Given the description of an element on the screen output the (x, y) to click on. 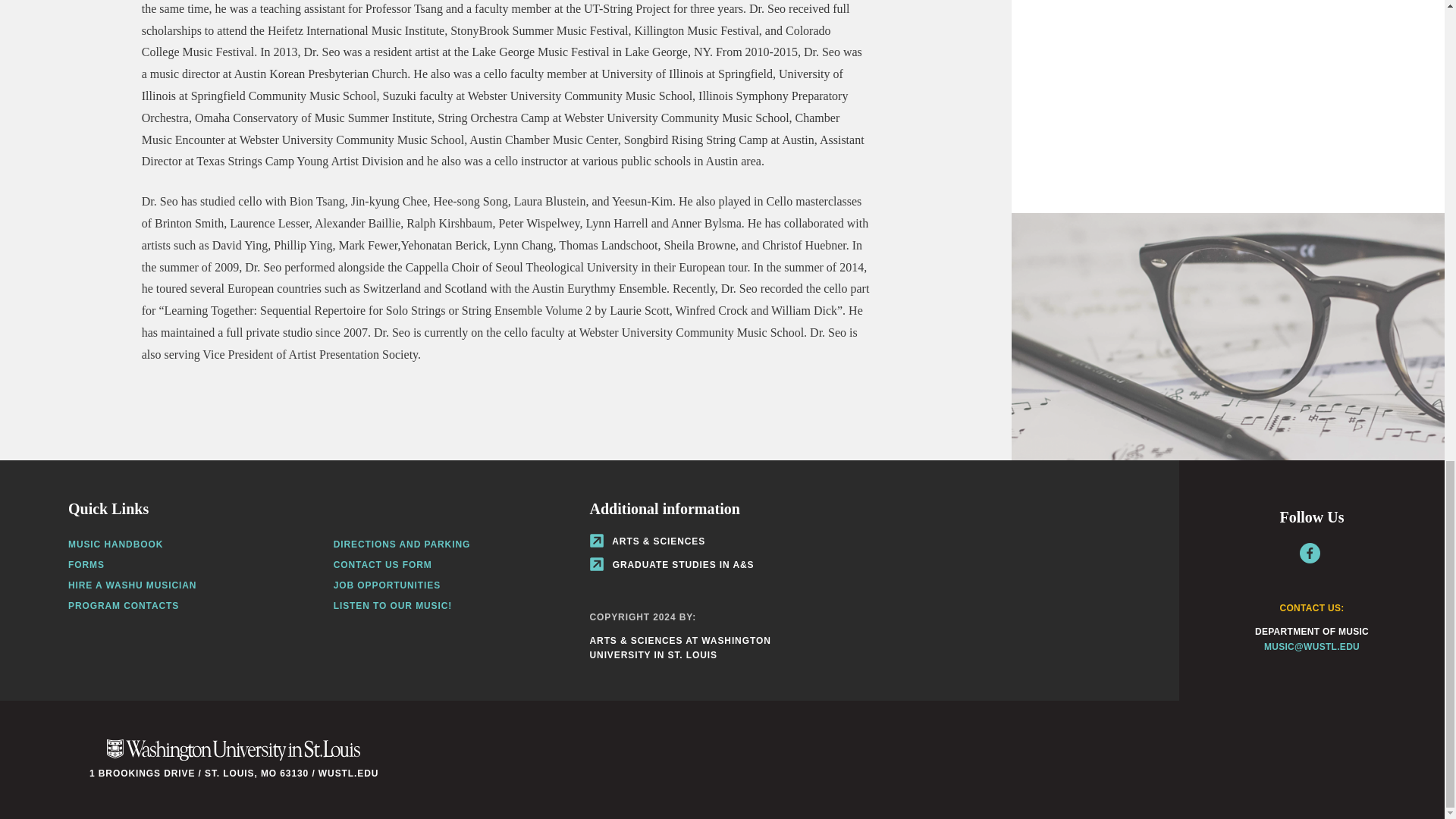
HIRE A WASHU MUSICIAN (132, 584)
CONTACT US FORM (382, 564)
Facebook (1310, 552)
JOB OPPORTUNITIES (387, 584)
FORMS (86, 564)
PROGRAM CONTACTS (123, 605)
MUSIC HANDBOOK (115, 543)
LISTEN TO OUR MUSIC! (392, 605)
DIRECTIONS AND PARKING (401, 543)
